Given the description of an element on the screen output the (x, y) to click on. 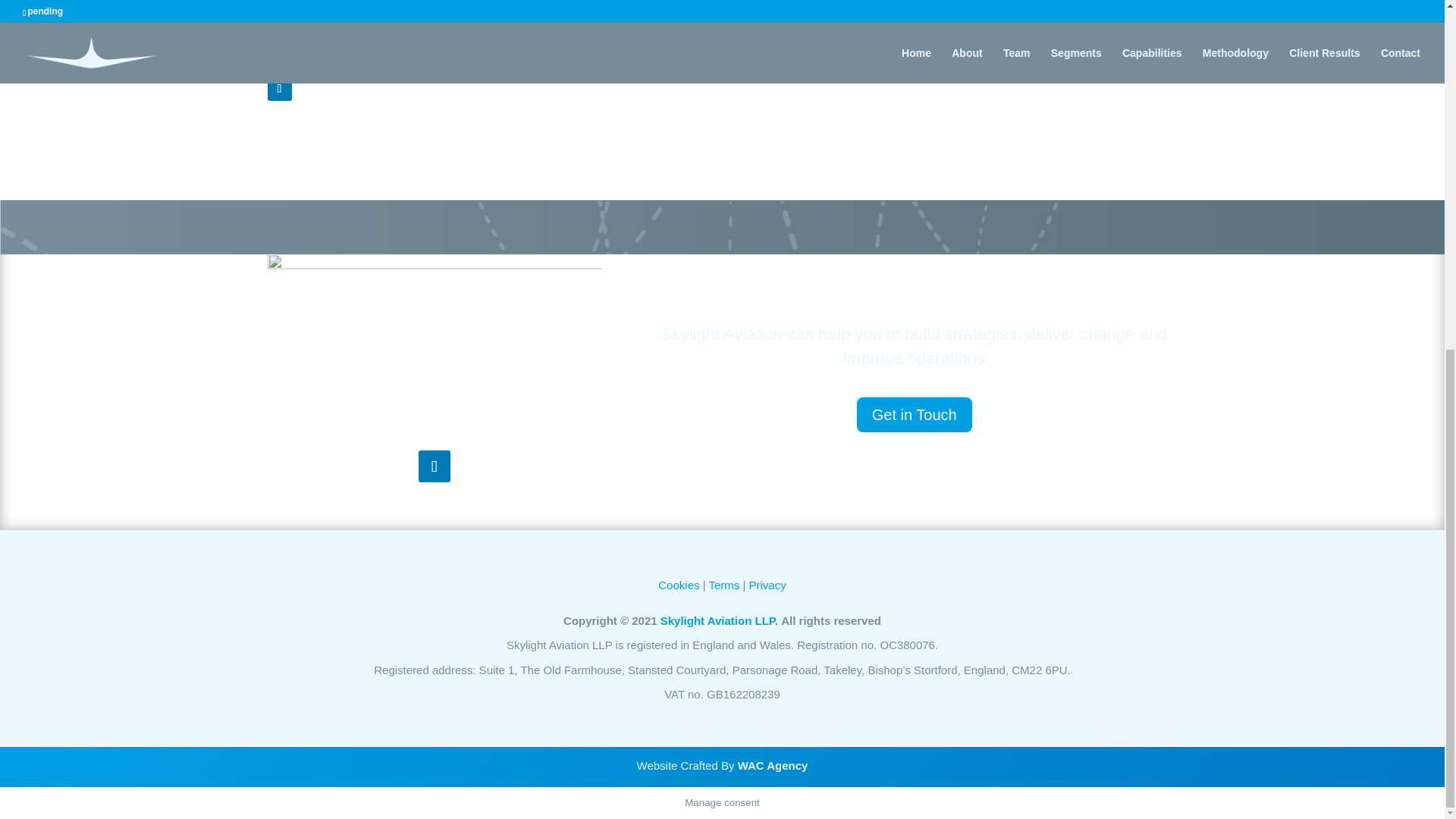
Skylight Aviation LLP (717, 620)
Follow on LinkedIn (278, 88)
Cookies Policy (678, 584)
Privacy (767, 584)
Get in Touch (915, 414)
Terms (723, 584)
Cookies (678, 584)
Privacy Policy (767, 584)
Follow on LinkedIn (434, 466)
